Given the description of an element on the screen output the (x, y) to click on. 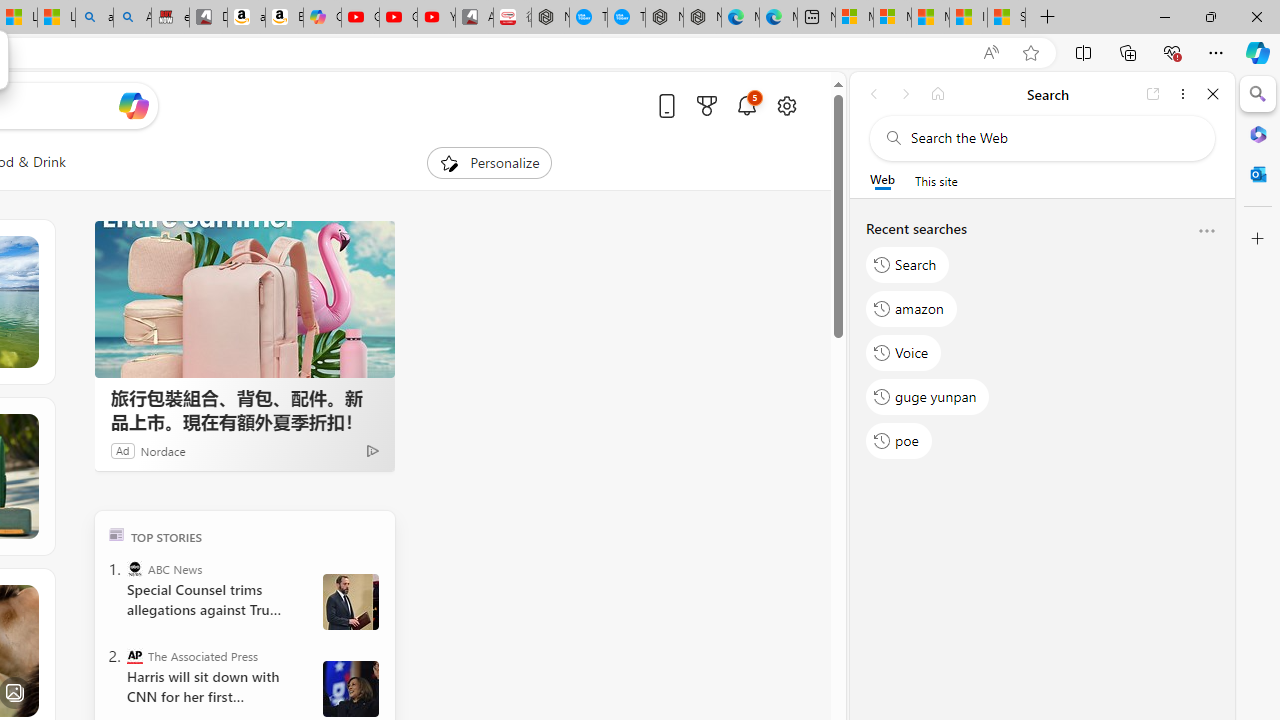
ABC News (134, 568)
YouTube Kids - An App Created for Kids to Explore Content (436, 17)
This site scope (936, 180)
TOP (116, 534)
guge yunpan (927, 396)
The most popular Google 'how to' searches (626, 17)
